Given the description of an element on the screen output the (x, y) to click on. 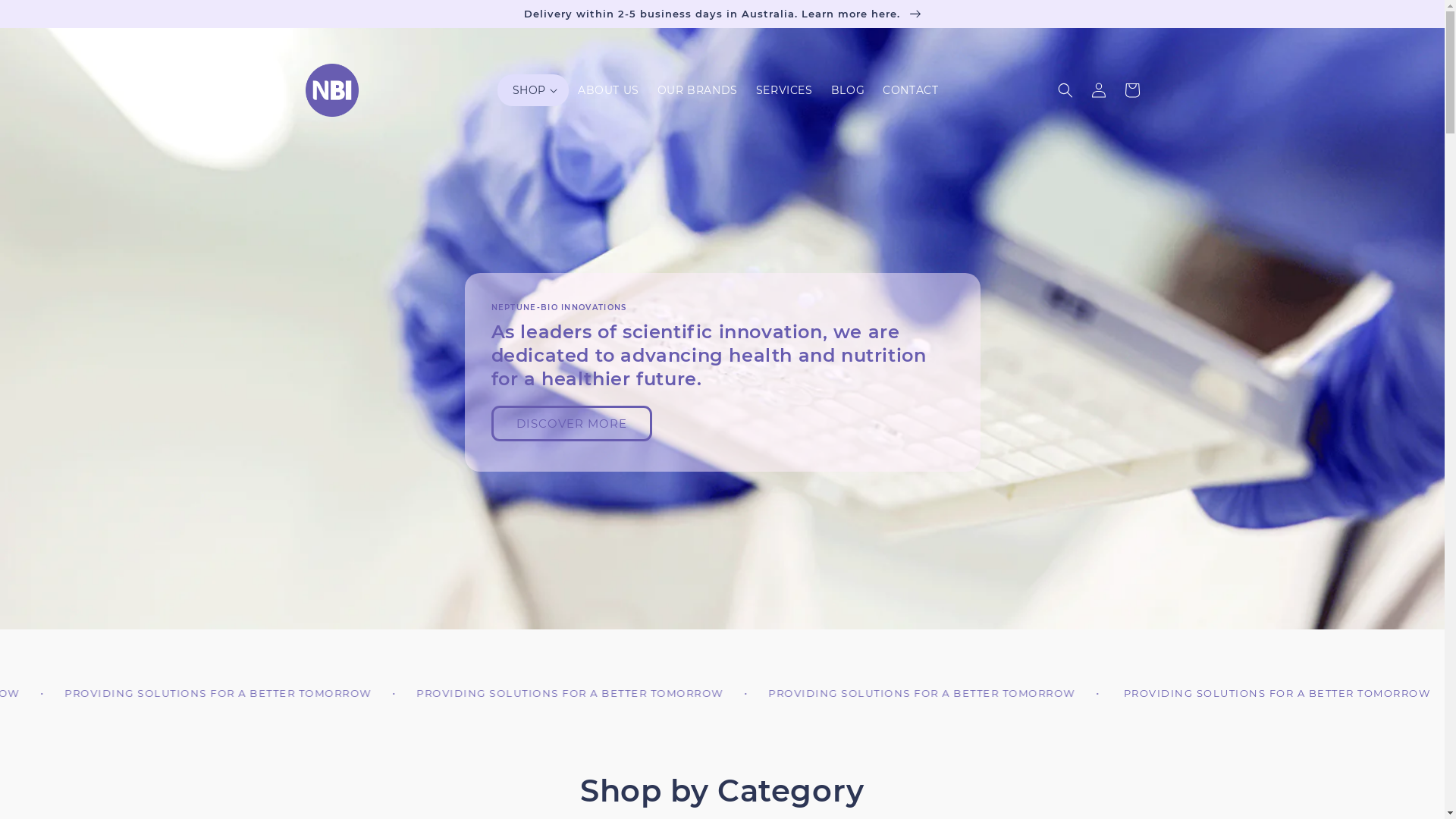
BLOG Element type: text (847, 90)
Cart Element type: text (1131, 89)
CONTACT Element type: text (910, 90)
SERVICES Element type: text (784, 90)
ABOUT US Element type: text (608, 90)
DISCOVER MORE Element type: text (571, 423)
Log in Element type: text (1097, 89)
OUR BRANDS Element type: text (697, 90)
